Given the description of an element on the screen output the (x, y) to click on. 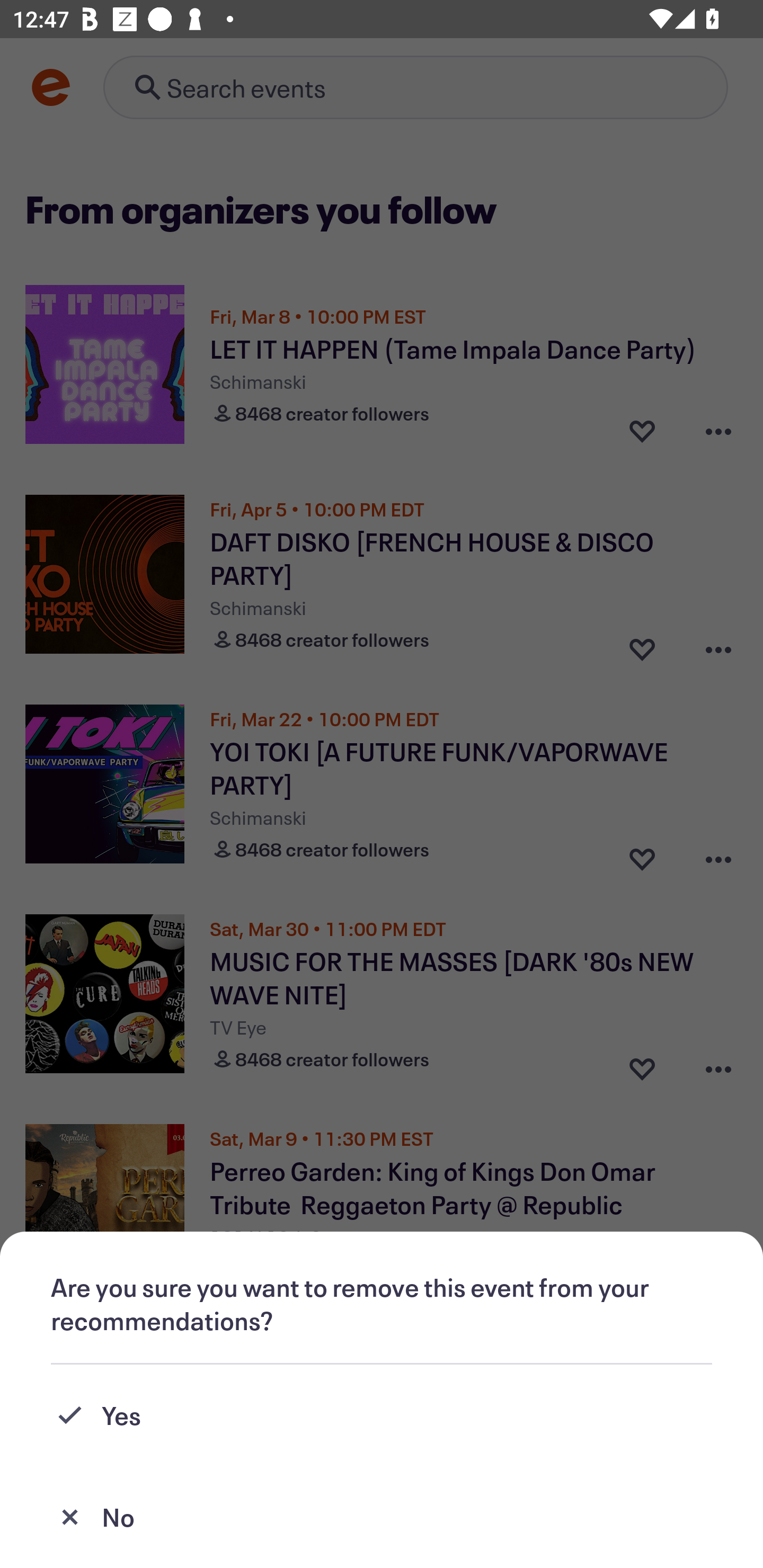
Yes (381, 1415)
No (381, 1517)
